Given the description of an element on the screen output the (x, y) to click on. 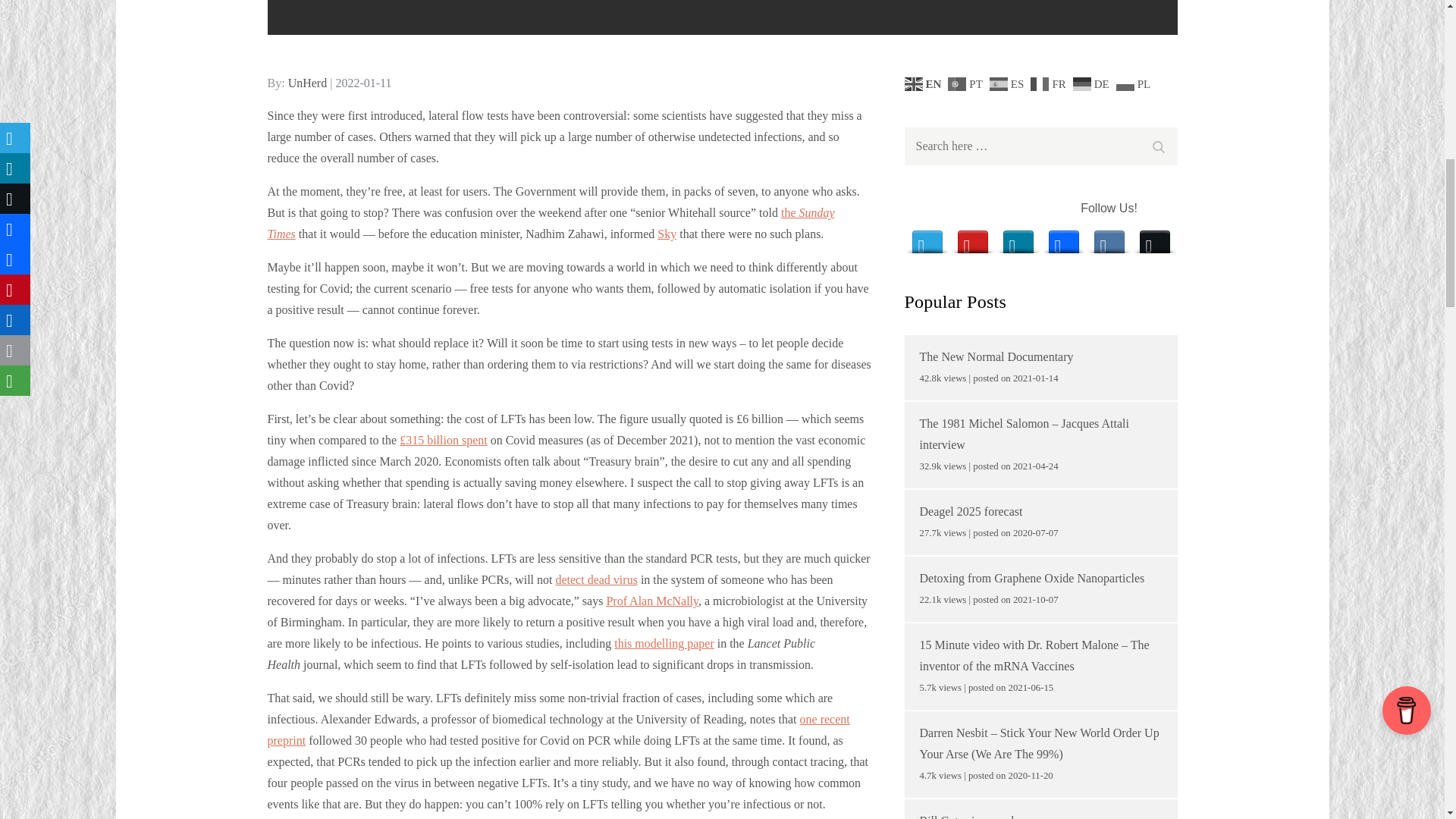
Spanish (1008, 82)
Portuguese (967, 82)
English (924, 82)
